Given the description of an element on the screen output the (x, y) to click on. 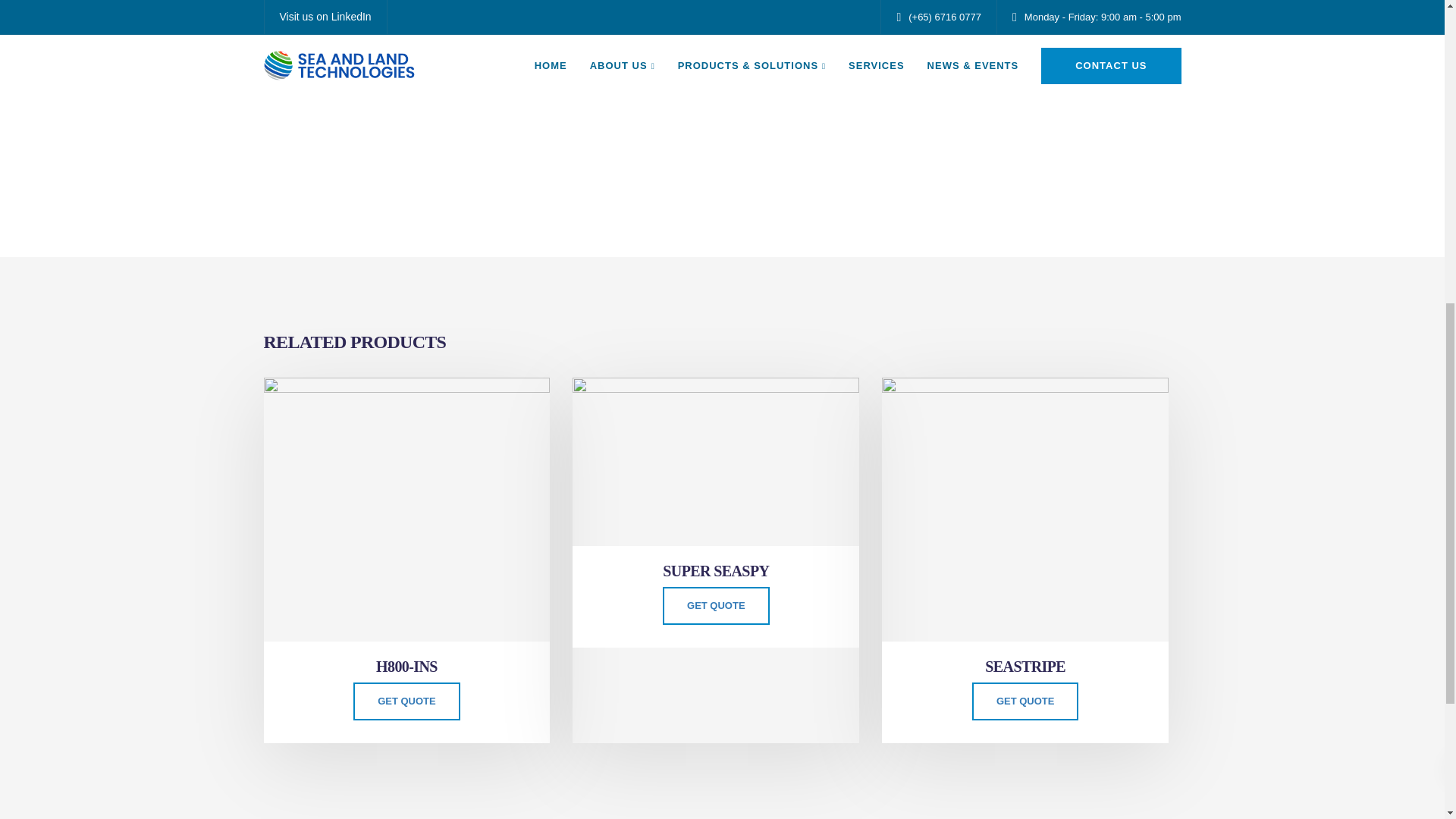
H800-INS (406, 669)
GET QUOTE (716, 605)
GET QUOTE (406, 701)
SUPER SEASPY (715, 574)
